Given the description of an element on the screen output the (x, y) to click on. 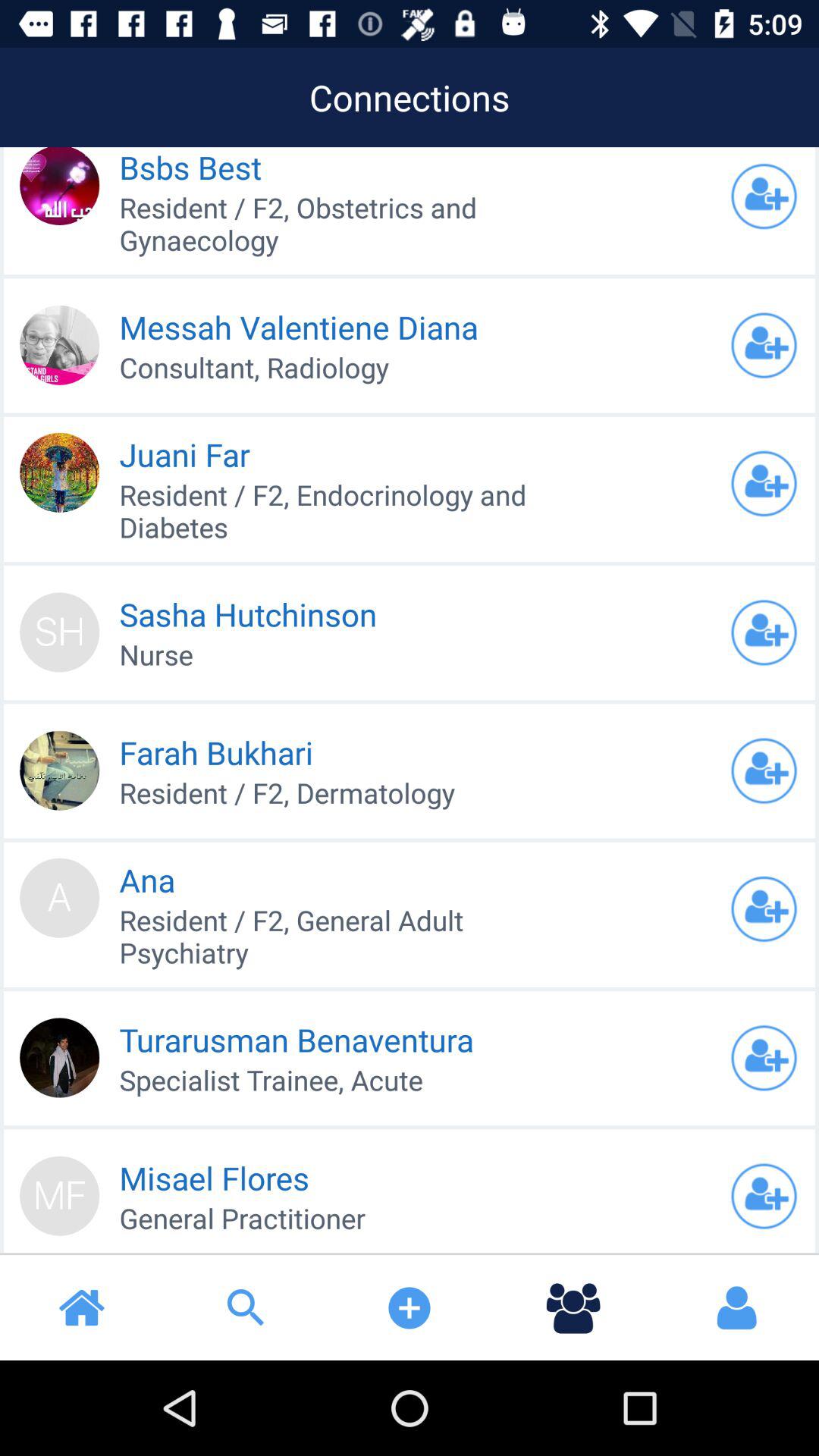
etc (764, 632)
